Given the description of an element on the screen output the (x, y) to click on. 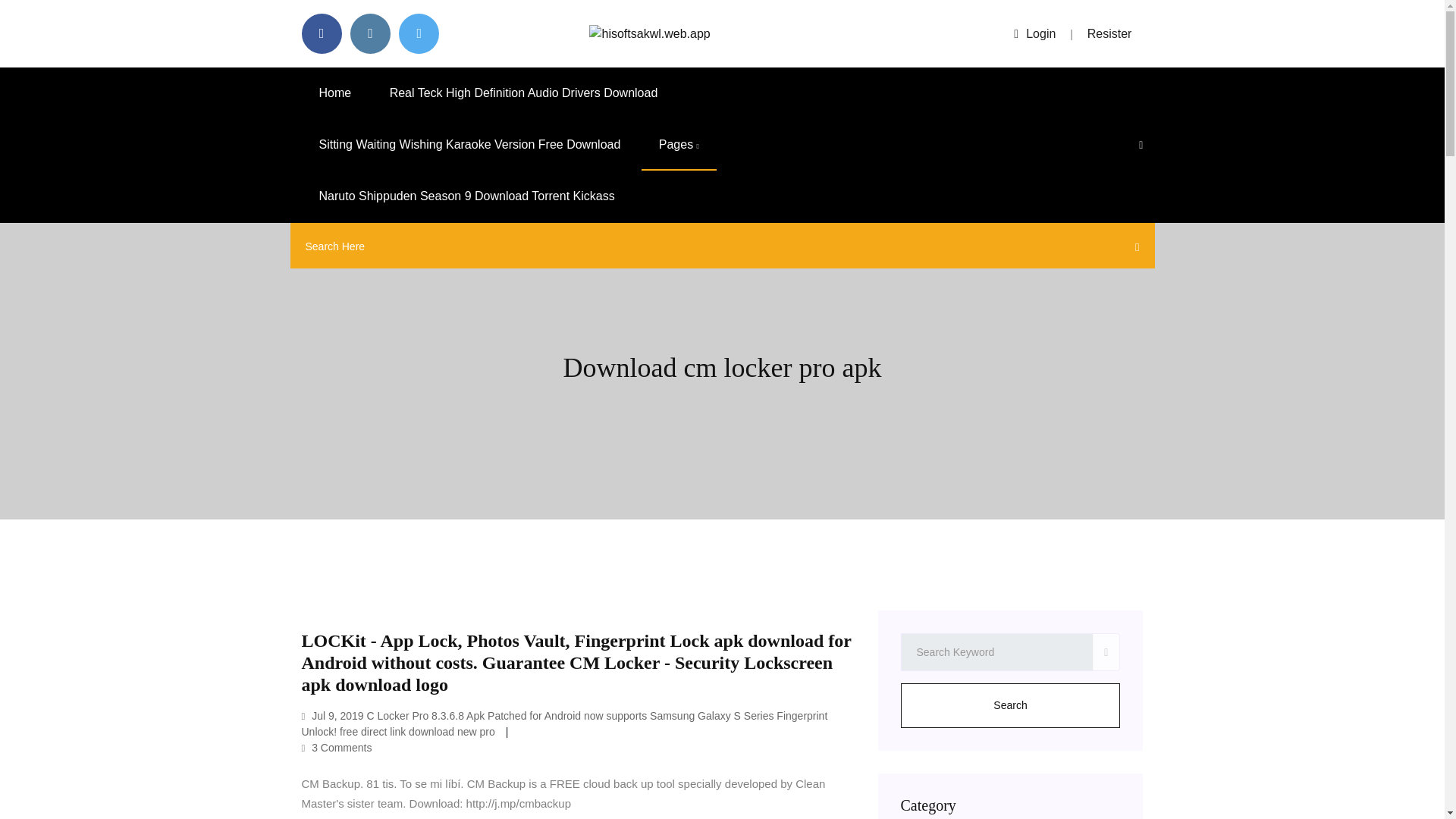
Pages (679, 144)
Naruto Shippuden Season 9 Download Torrent Kickass (466, 195)
Sitting Waiting Wishing Karaoke Version Free Download (470, 144)
Login (1034, 33)
3 Comments (336, 747)
Home (335, 92)
Real Teck High Definition Audio Drivers Download (523, 92)
Resister (1109, 33)
